Given the description of an element on the screen output the (x, y) to click on. 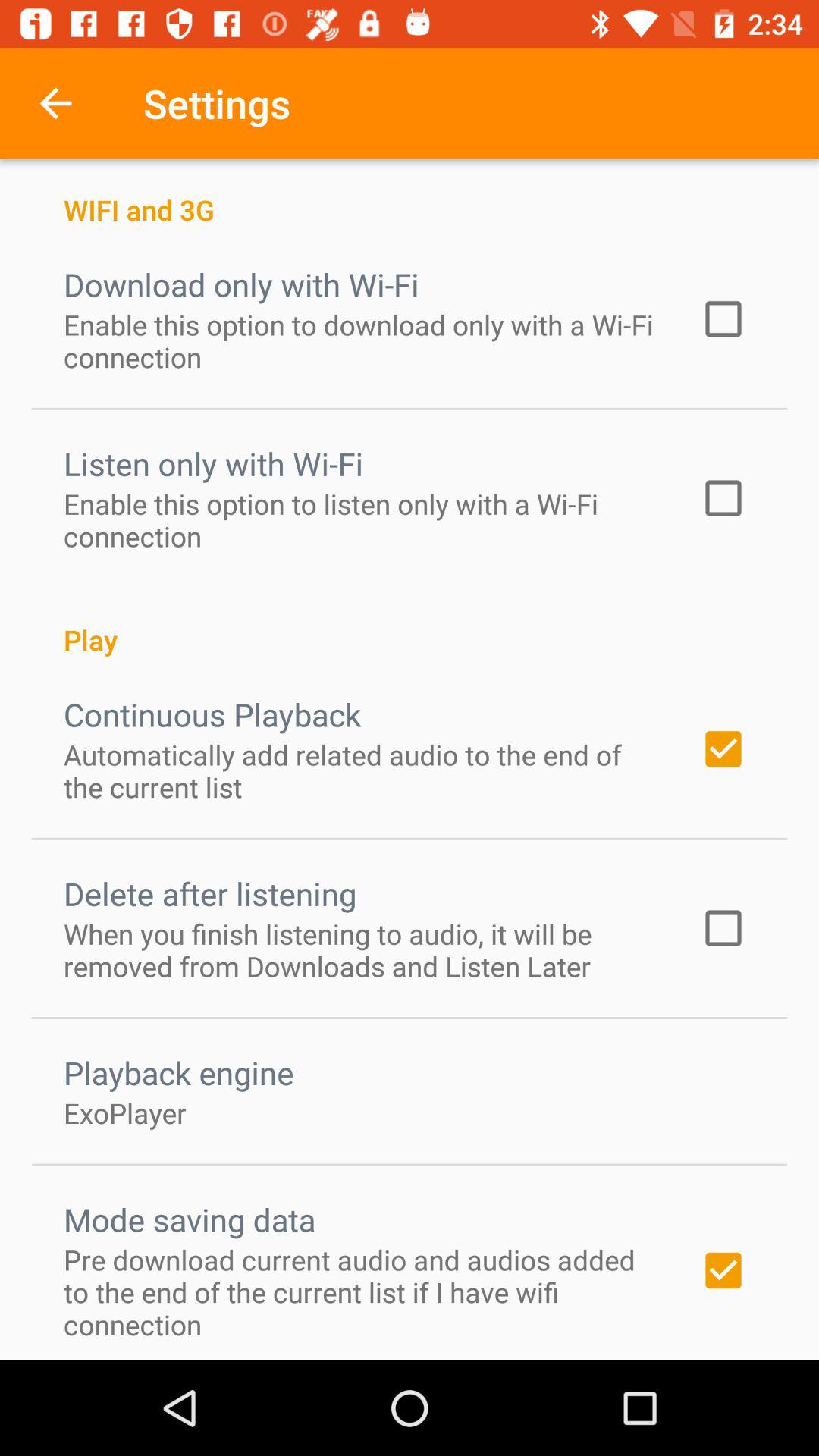
flip to the playback engine item (178, 1072)
